Given the description of an element on the screen output the (x, y) to click on. 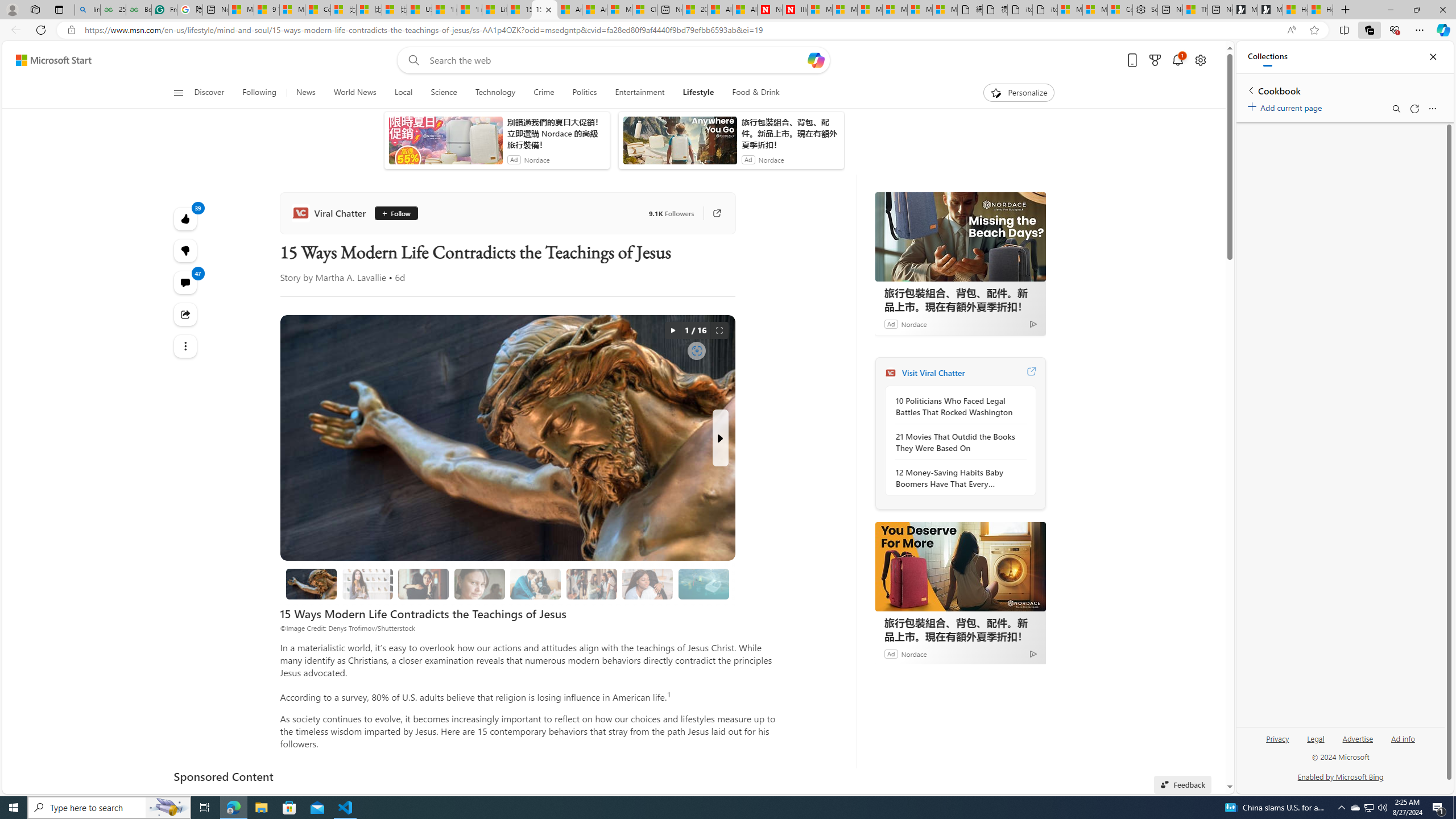
Nordace (914, 653)
21 Movies That Outdid the Books They Were Based On (957, 441)
Best SSL Certificates Provider in India - GeeksforGeeks (137, 9)
Science (442, 92)
2. Lack of Support & Encouragement (534, 583)
New tab (1219, 9)
Microsoft Start (53, 60)
20 Ways to Boost Your Protein Intake at Every Meal (694, 9)
9. Gossiping and Backbiting (591, 583)
Full screen (719, 330)
Newsweek - News, Analysis, Politics, Business, Technology (769, 9)
